Given the description of an element on the screen output the (x, y) to click on. 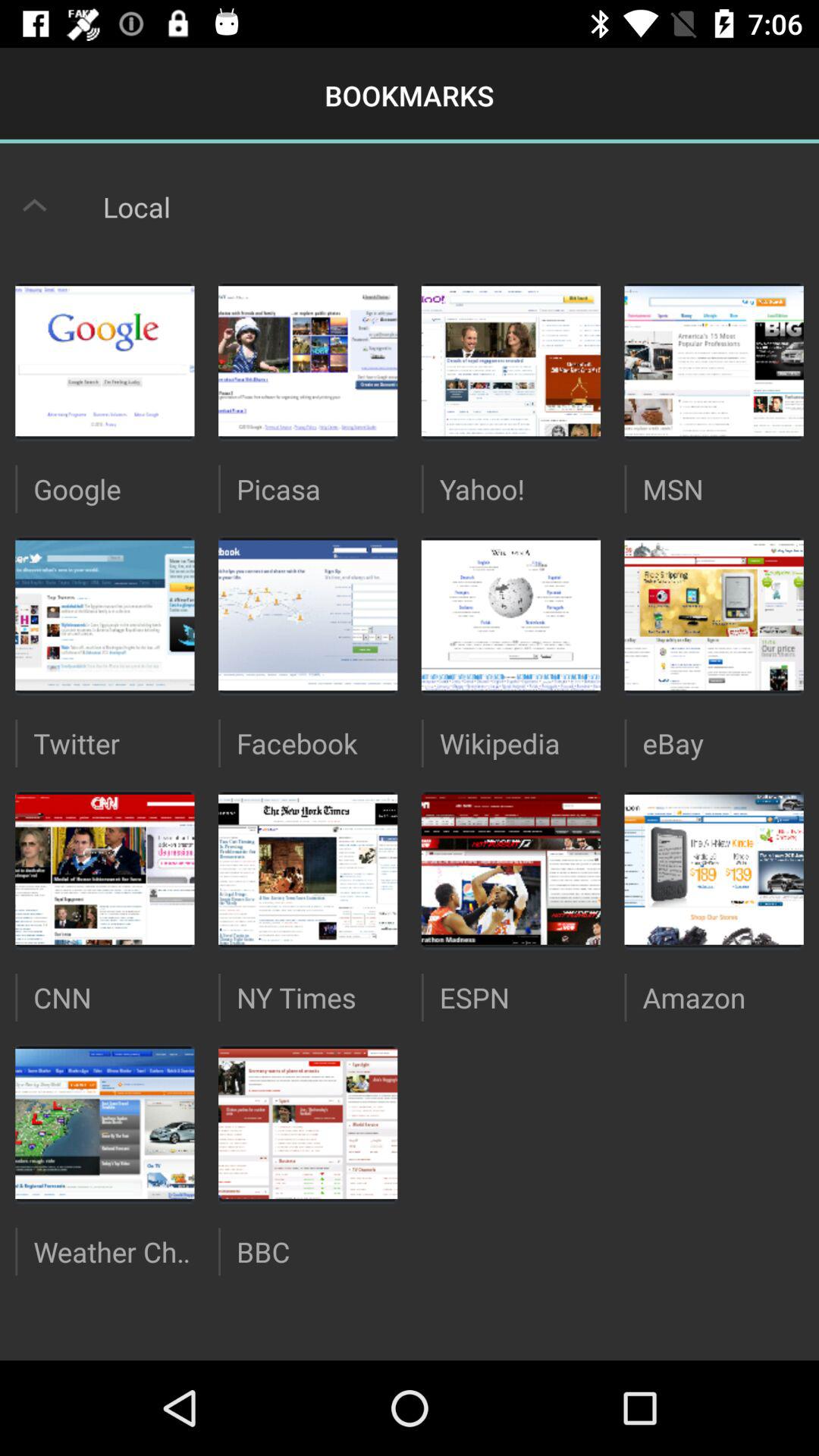
choose the first image in the bookmarks (104, 361)
go to image above bbc (307, 1124)
image above the text espn (510, 870)
click on the image above twitter (104, 615)
go to the first image in the third row (104, 870)
